Given the description of an element on the screen output the (x, y) to click on. 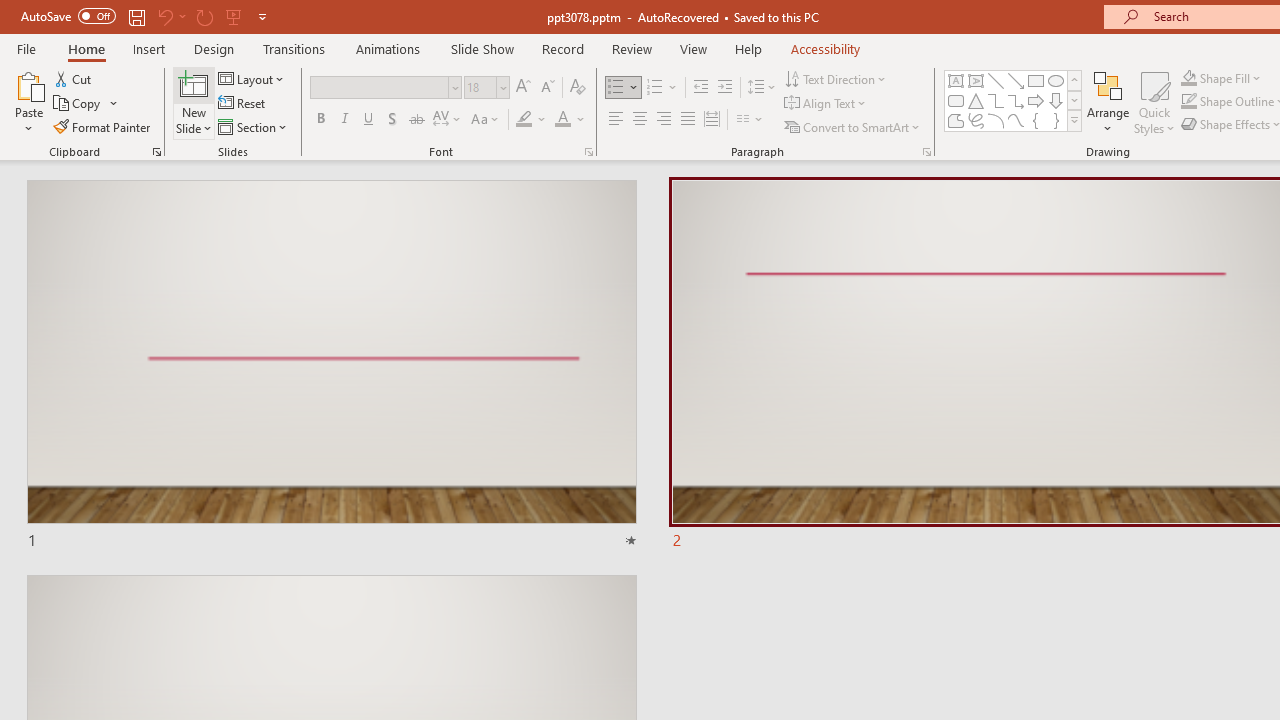
Rectangle: Rounded Corners (955, 100)
Arc (995, 120)
Vertical Text Box (975, 80)
Strikethrough (416, 119)
